Given the description of an element on the screen output the (x, y) to click on. 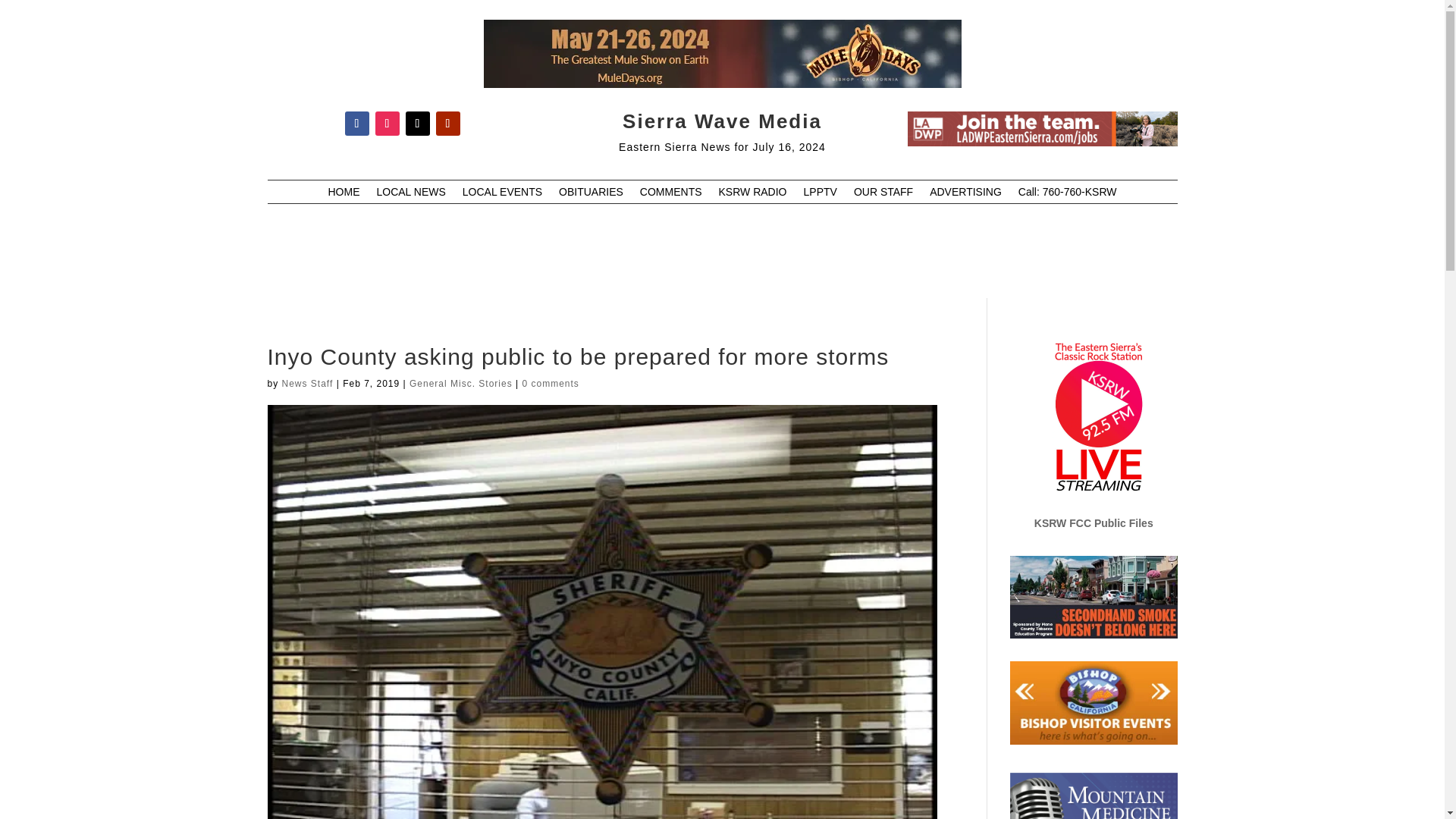
LOCAL EVENTS (502, 194)
News Staff (307, 383)
Follow on X (416, 123)
Call: 760-760-KSRW (1066, 194)
Posts by News Staff (307, 383)
dec (1041, 128)
KSRW RADIO (753, 194)
LOCAL NEWS (410, 194)
0 comments (549, 383)
COMMENTS (670, 194)
HOME (343, 194)
KSRW FCC Public Files (1093, 522)
General Misc. Stories (460, 383)
LPPTV (820, 194)
Follow on Youtube (447, 123)
